Given the description of an element on the screen output the (x, y) to click on. 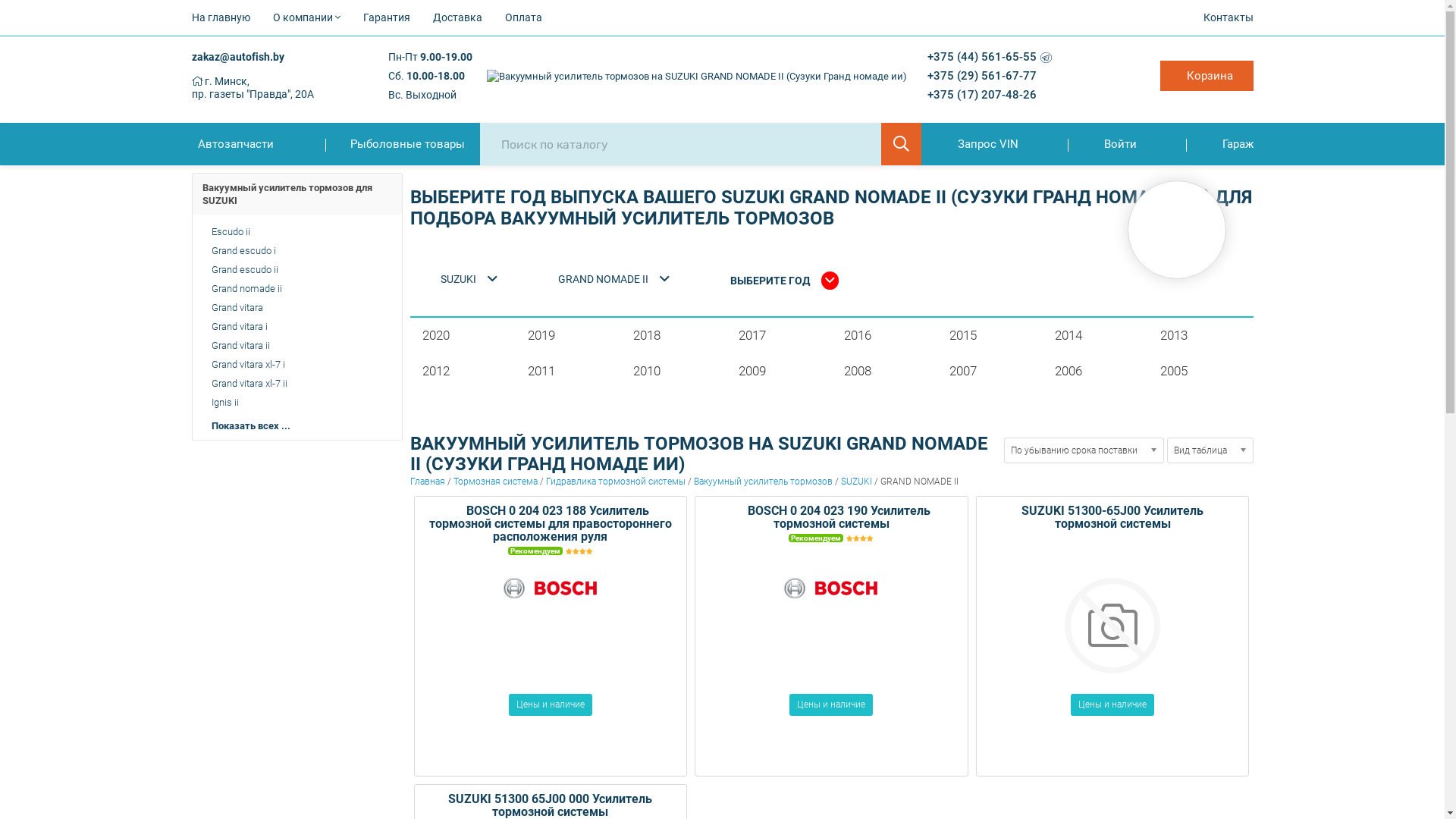
2007 Element type: text (989, 371)
2010 Element type: text (674, 371)
Grand vitara Element type: text (295, 307)
2016 Element type: text (885, 335)
SUZUKI Element type: text (468, 278)
+375 (29) 561-67-77 Element type: text (981, 75)
Grand escudo i Element type: text (295, 250)
Escudo ii Element type: text (295, 231)
Ignis ii Element type: text (295, 401)
+375 (17) 207-48-26 Element type: text (981, 94)
2009 Element type: text (778, 371)
2017 Element type: text (778, 335)
+375 (44) 561-65-55 Element type: text (981, 56)
2020 Element type: text (463, 335)
2014 Element type: text (1095, 335)
Grand nomade ii Element type: text (295, 288)
Grand vitara i Element type: text (295, 325)
Grand vitara xl-7 ii Element type: text (295, 382)
Grand vitara xl-7 i Element type: text (295, 363)
2019 Element type: text (568, 335)
2008 Element type: text (885, 371)
2015 Element type: text (989, 335)
Grand vitara ii Element type: text (295, 344)
2011 Element type: text (568, 371)
2005 Element type: text (1200, 371)
2013 Element type: text (1200, 335)
2012 Element type: text (463, 371)
2018 Element type: text (674, 335)
zakaz@autofish.by Element type: text (237, 56)
SUZUKI Element type: text (855, 481)
Grand escudo ii Element type: text (295, 269)
GRAND NOMADE II Element type: text (613, 278)
2006 Element type: text (1095, 371)
